Given the description of an element on the screen output the (x, y) to click on. 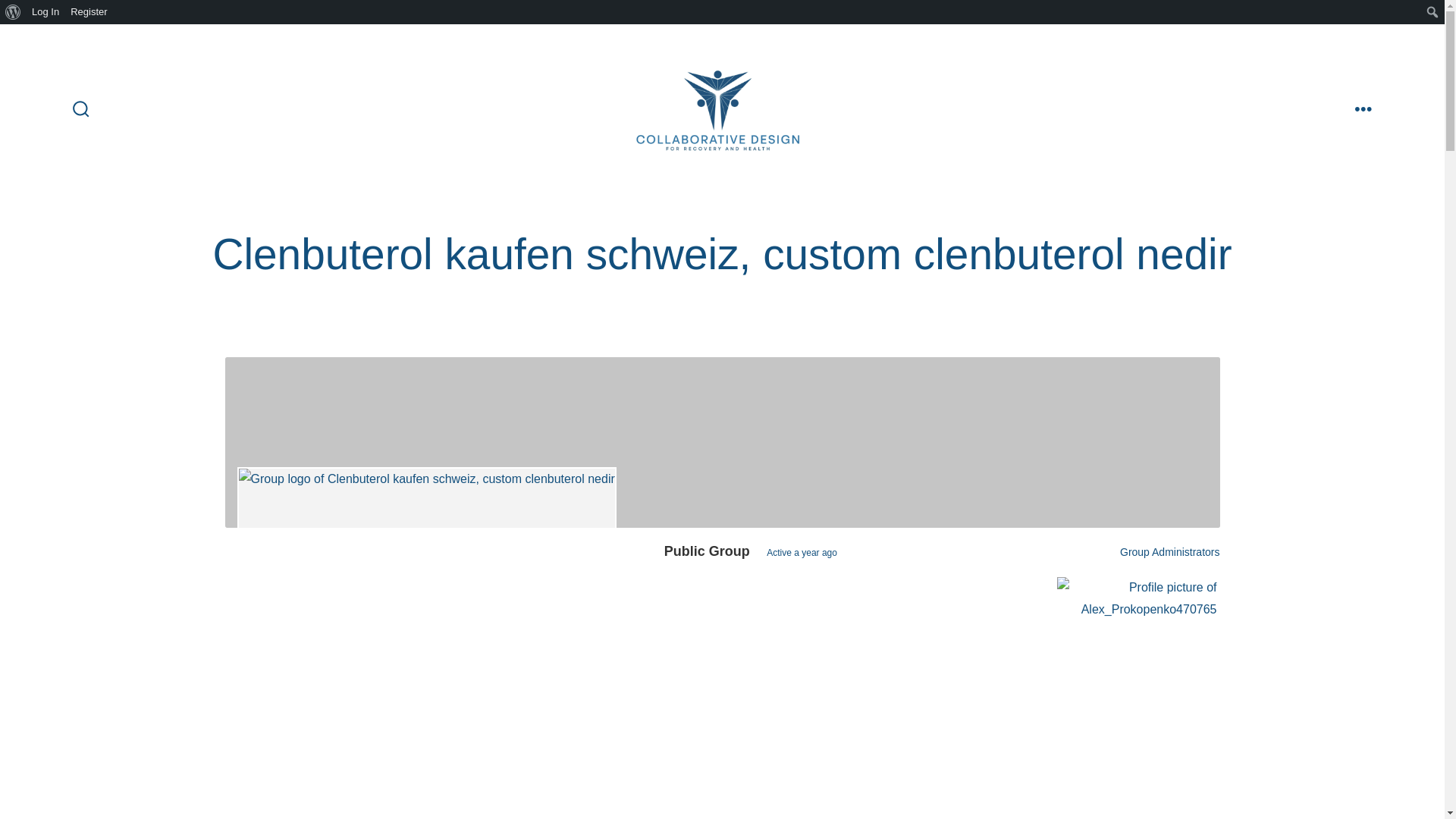
menu (1362, 109)
Search (15, 12)
Log In (45, 12)
search toggle (81, 109)
Register (89, 12)
